Given the description of an element on the screen output the (x, y) to click on. 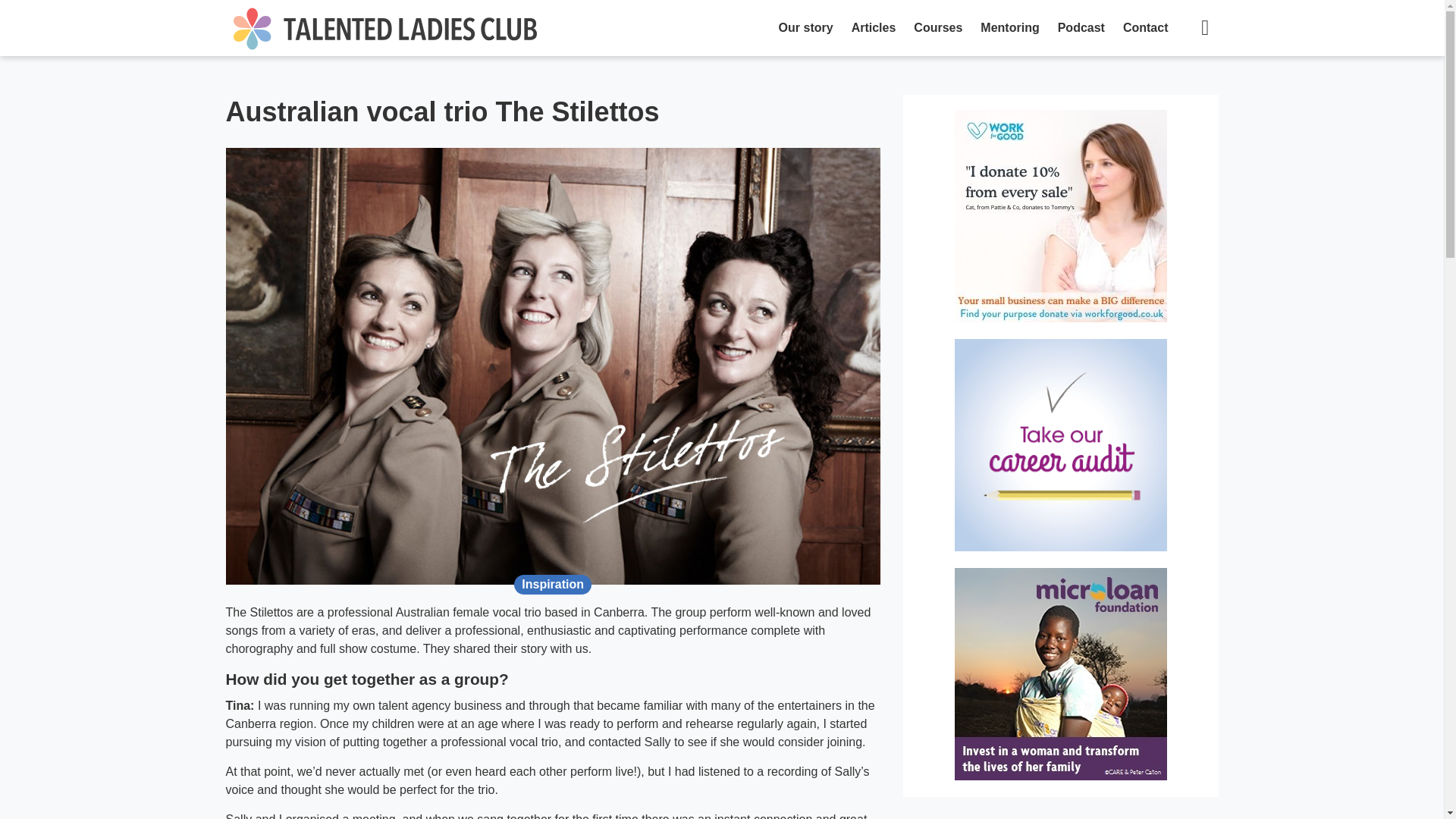
Our story (806, 28)
Contact (1145, 28)
Mentoring (1009, 28)
Articles (874, 28)
Podcast (1080, 28)
Courses (937, 28)
